Given the description of an element on the screen output the (x, y) to click on. 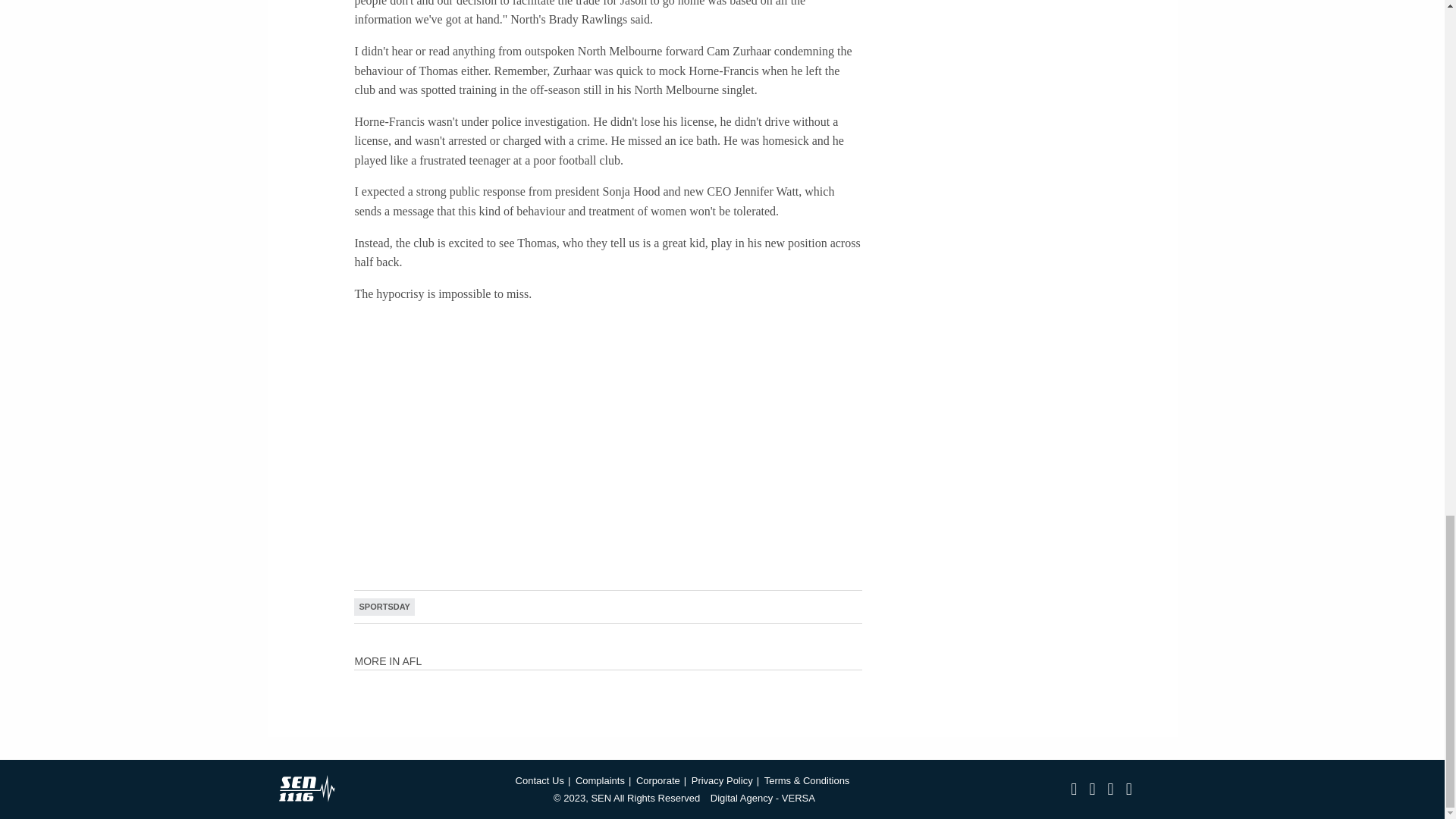
YouTube video player (565, 434)
